Given the description of an element on the screen output the (x, y) to click on. 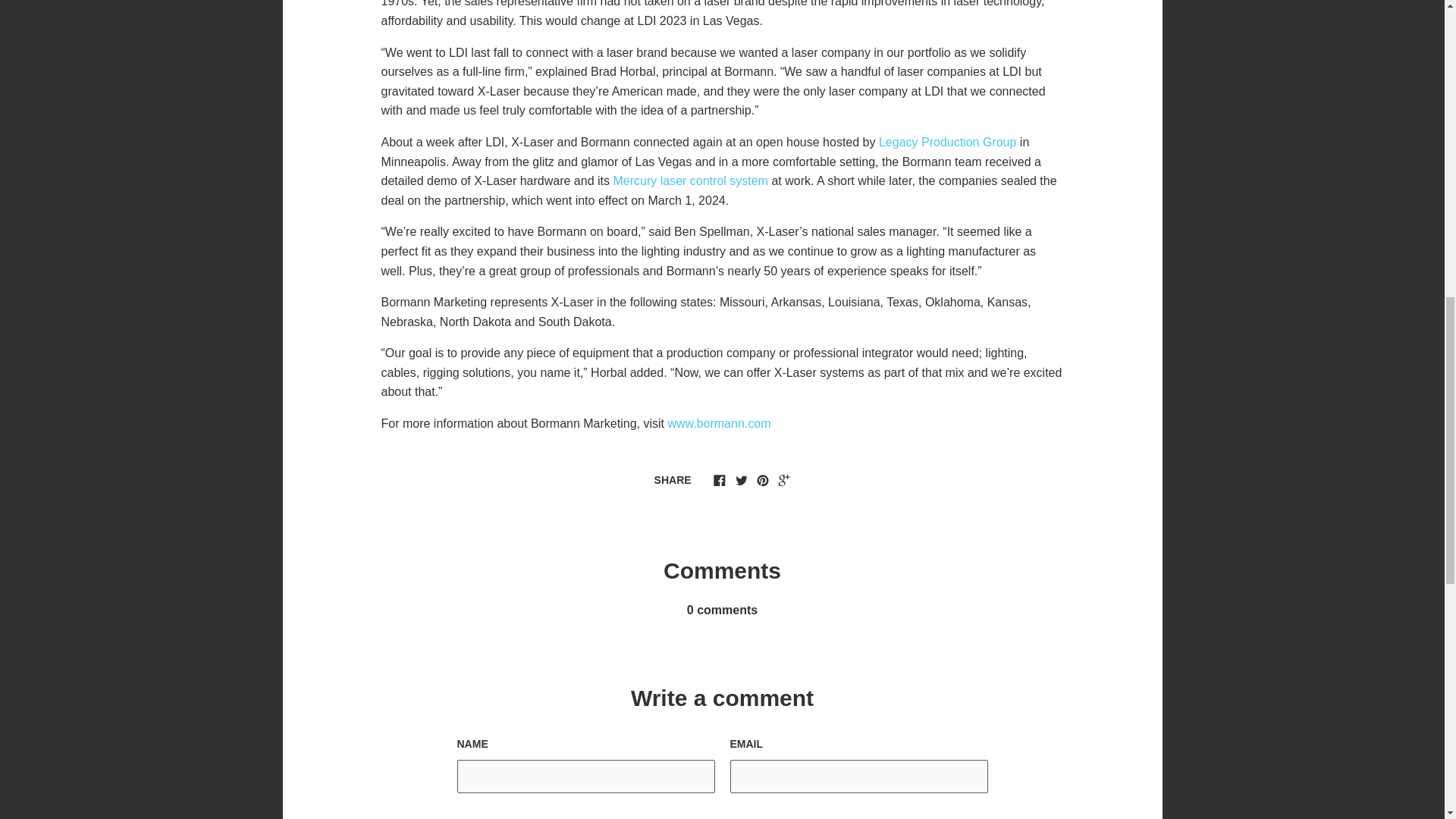
Facebook (719, 480)
Pinterest (762, 480)
Twitter (741, 480)
